Given the description of an element on the screen output the (x, y) to click on. 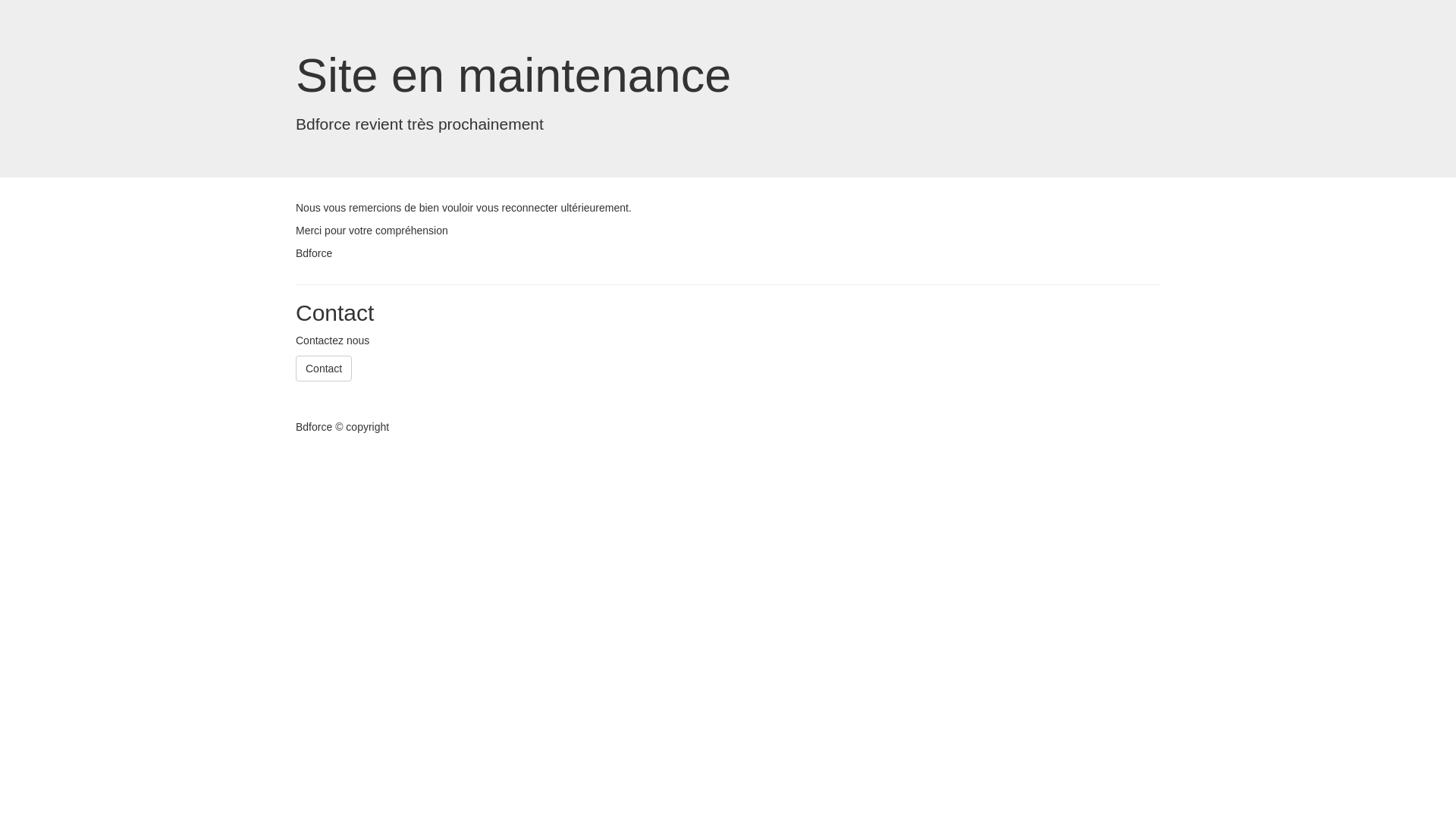
Contact Element type: text (323, 368)
